Given the description of an element on the screen output the (x, y) to click on. 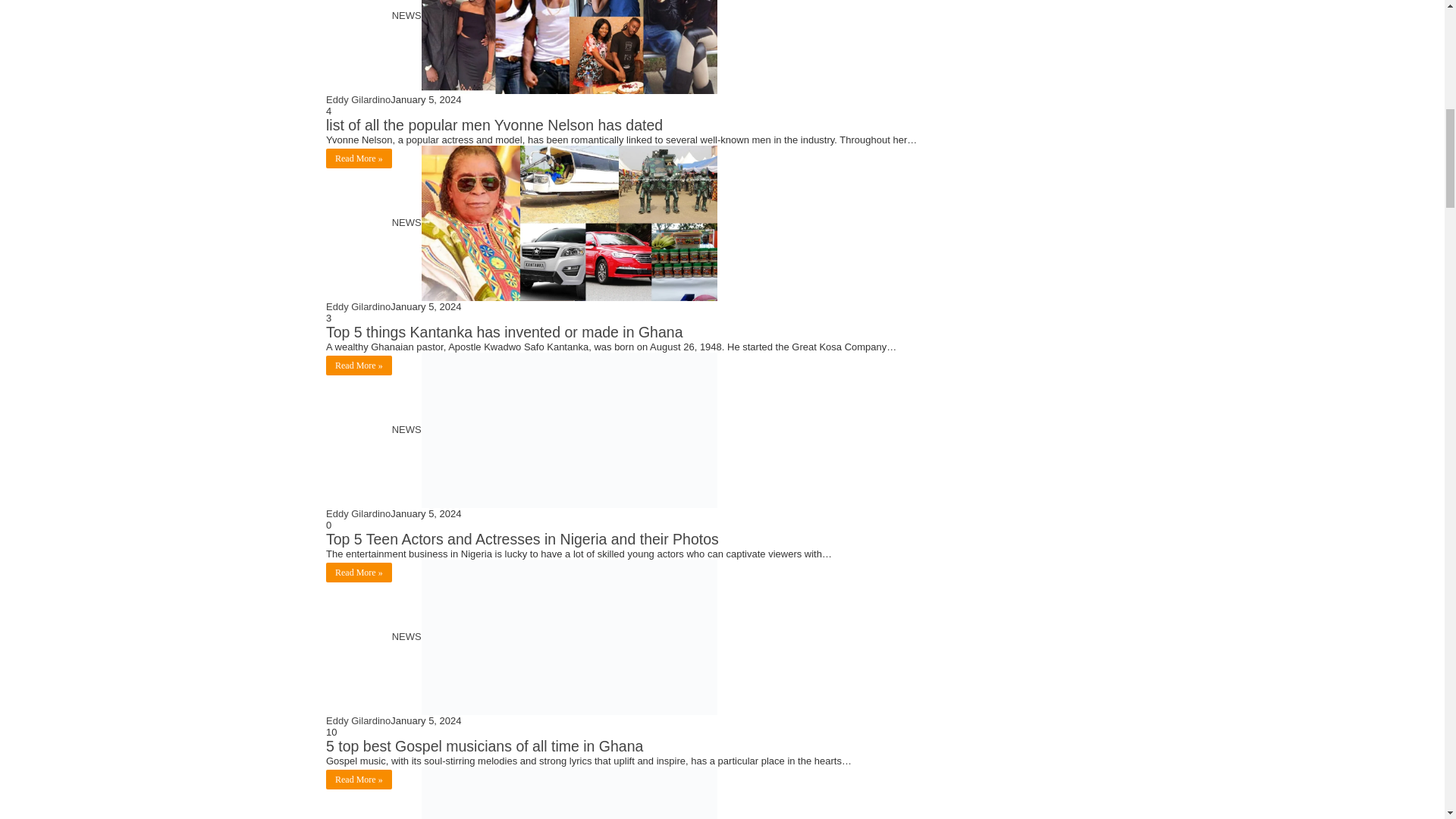
NEWS (554, 429)
Eddy Gilardino (358, 306)
Eddy Gilardino (358, 513)
NEWS (554, 222)
Eddy Gilardino (358, 306)
NEWS (554, 15)
Eddy Gilardino (358, 99)
list of all the popular men Yvonne Nelson has dated 17 (569, 47)
Eddy Gilardino (358, 720)
Top 5 things Kantanka has invented or made in Ghana (504, 331)
